Given the description of an element on the screen output the (x, y) to click on. 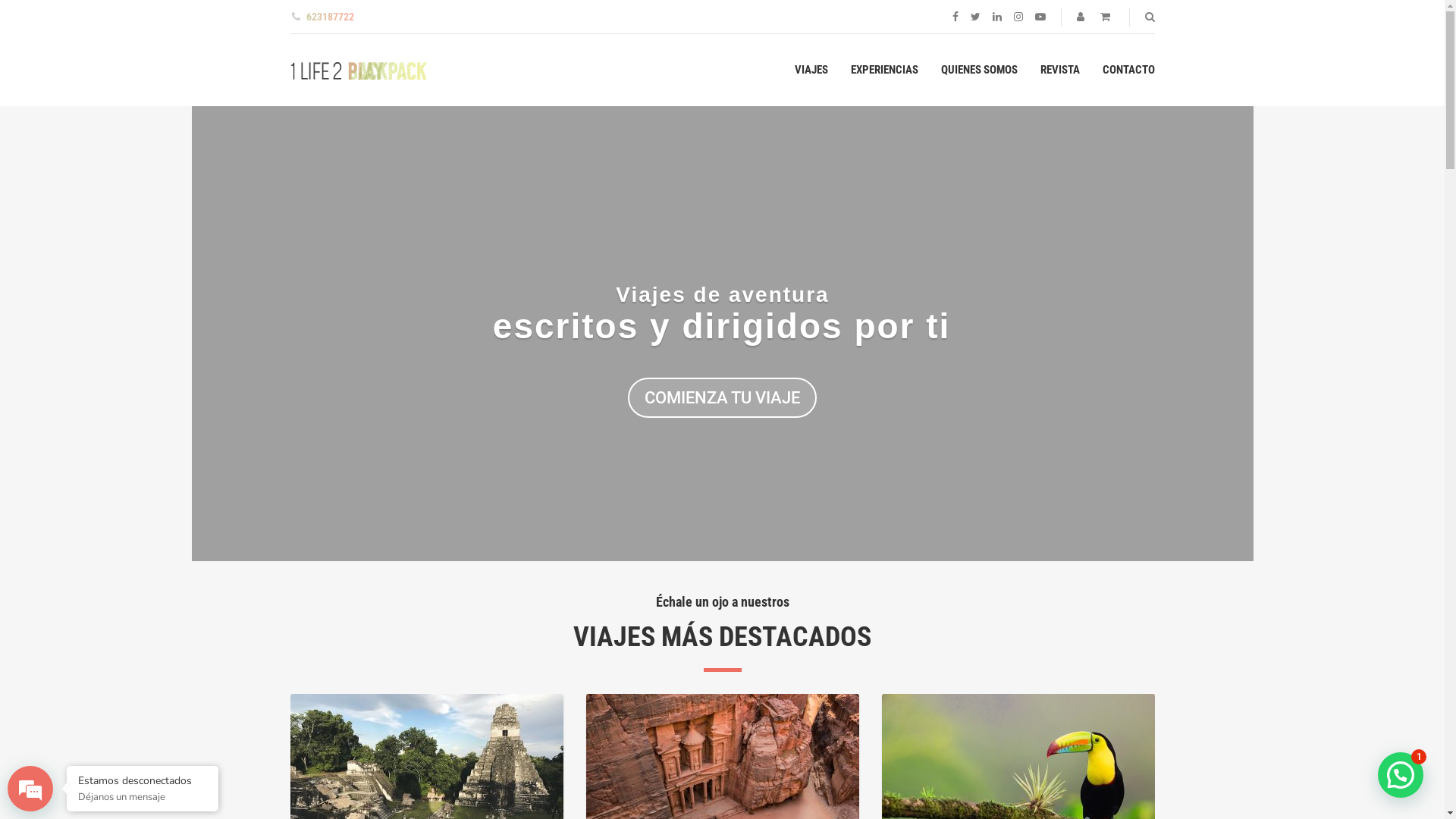
QUIENES SOMOS Element type: text (978, 69)
viajes de aventura Element type: hover (357, 70)
EXPERIENCIAS Element type: text (884, 69)
VIAJES Element type: text (811, 69)
Mi cuenta Element type: hover (1081, 16)
623187722 Element type: text (322, 16)
CONTACTO Element type: text (1128, 69)
REVISTA Element type: text (1059, 69)
